Given the description of an element on the screen output the (x, y) to click on. 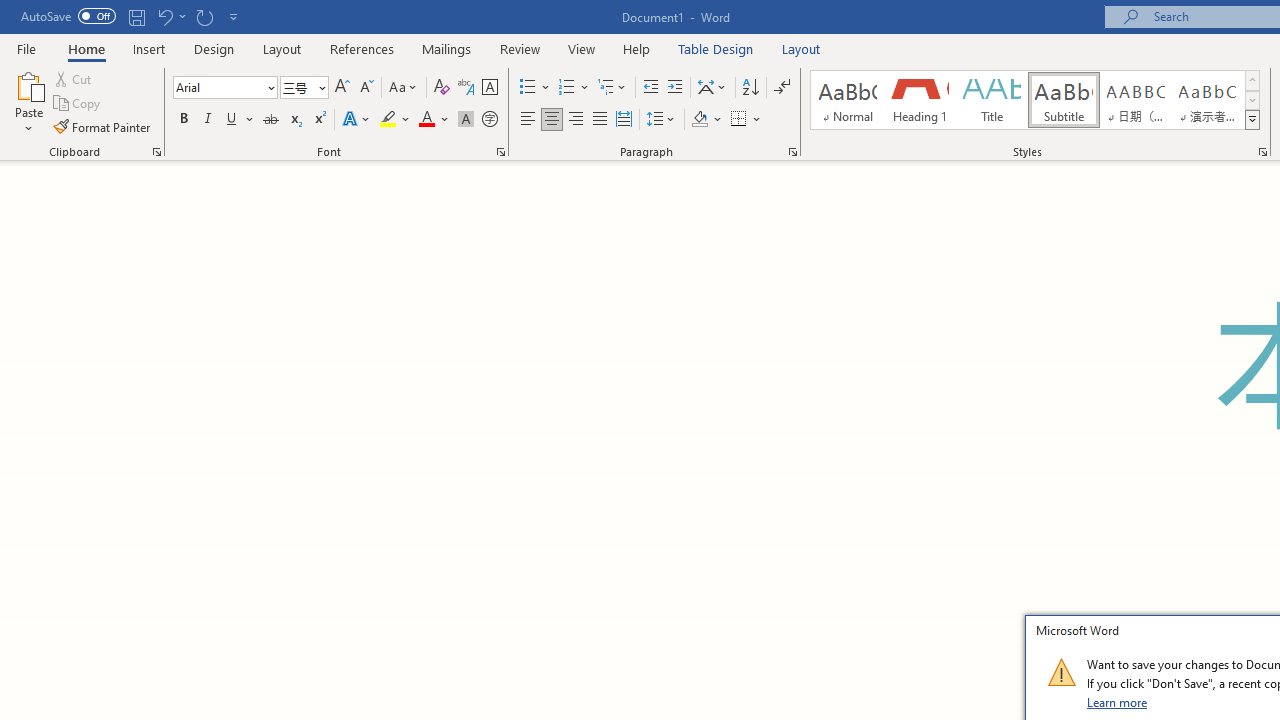
Sort... (750, 87)
Font... (500, 151)
Styles... (1262, 151)
Align Left (527, 119)
Character Border (489, 87)
Repeat Doc Close (204, 15)
